Given the description of an element on the screen output the (x, y) to click on. 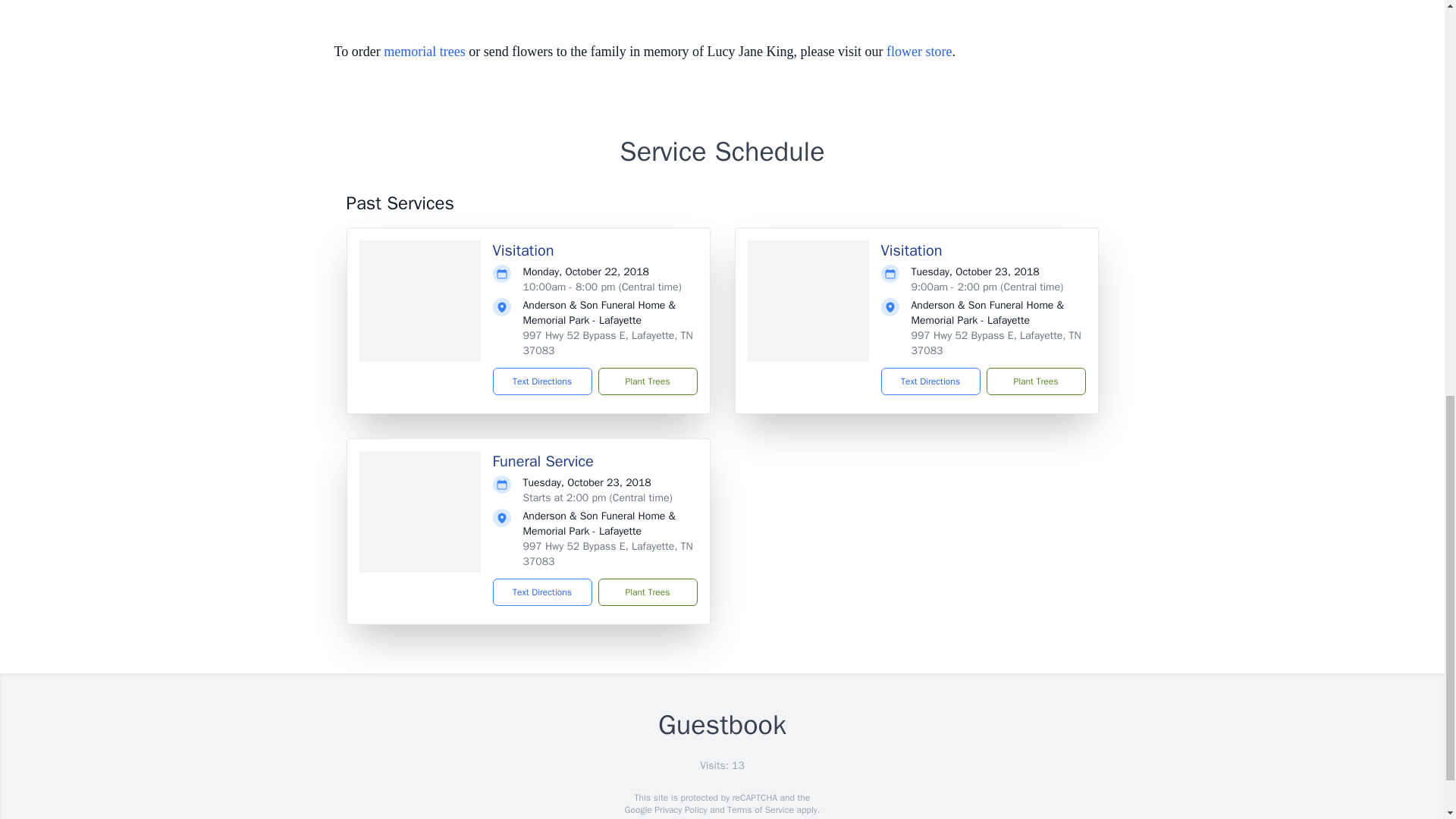
Plant Trees (1034, 380)
memorial trees (424, 51)
Terms of Service (759, 809)
997 Hwy 52 Bypass E, Lafayette, TN 37083 (607, 553)
Privacy Policy (679, 809)
Text Directions (542, 592)
997 Hwy 52 Bypass E, Lafayette, TN 37083 (607, 343)
Plant Trees (646, 592)
997 Hwy 52 Bypass E, Lafayette, TN 37083 (996, 343)
Text Directions (542, 380)
